Given the description of an element on the screen output the (x, y) to click on. 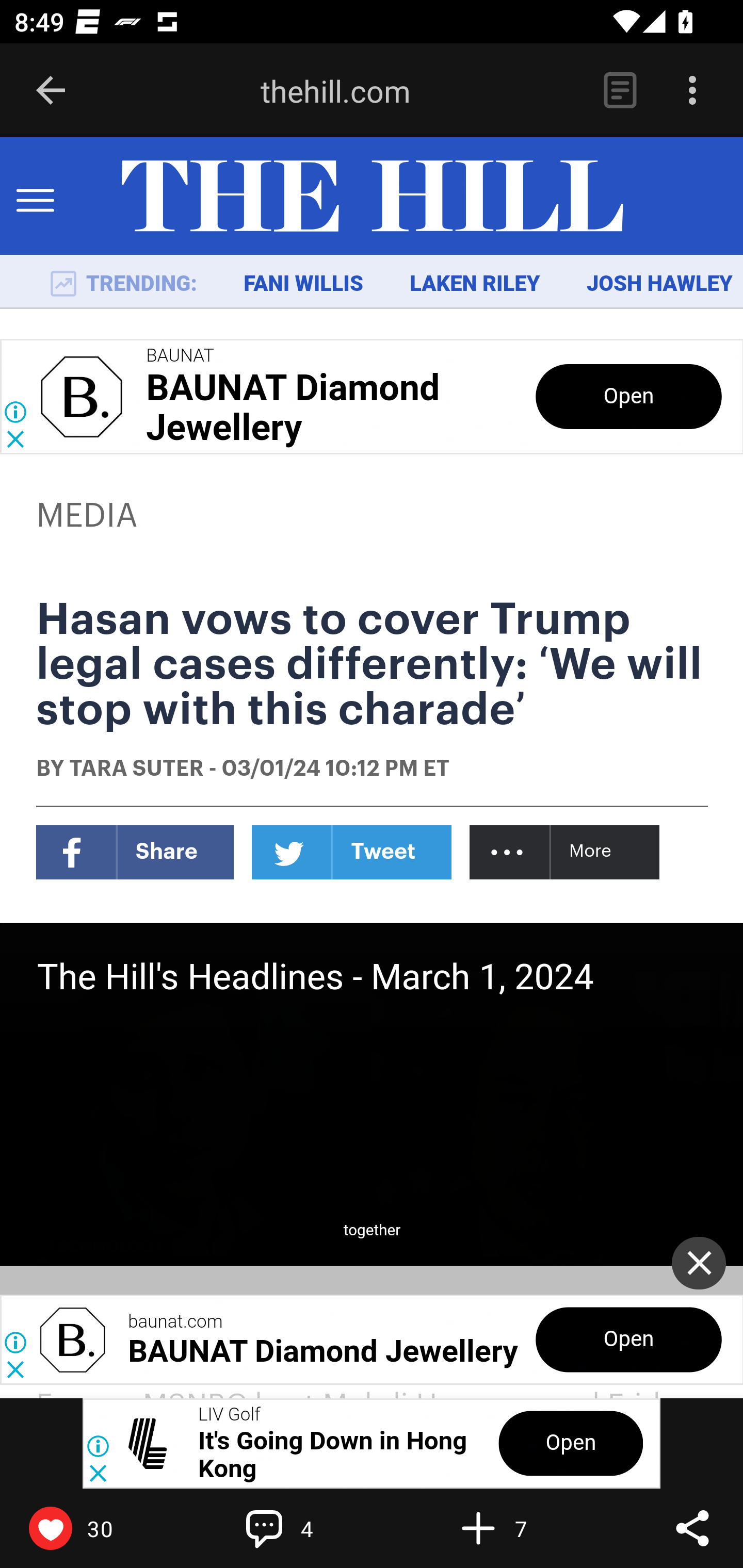
Back (50, 90)
Reader View (619, 90)
Options (692, 90)
Toggle Menu (34, 196)
TheHill.com (371, 196)
FANI WILLIS (303, 284)
LAKEN RILEY (474, 284)
JOSH HAWLEY (659, 284)
BAUNAT (179, 355)
BAUNAT Diamond Jewellery BAUNAT Diamond Jewellery (292, 408)
MEDIA (87, 516)
TARA SUTER (135, 769)
Facebook Share Facebook Share (135, 852)
Twitter Tweet Twitter Tweet (352, 852)
... More (565, 852)
✕ (699, 1262)
Like 30 (93, 1528)
Write a comment… 4 (307, 1528)
Flip into Magazine 7 (521, 1528)
Share (692, 1528)
